Given the description of an element on the screen output the (x, y) to click on. 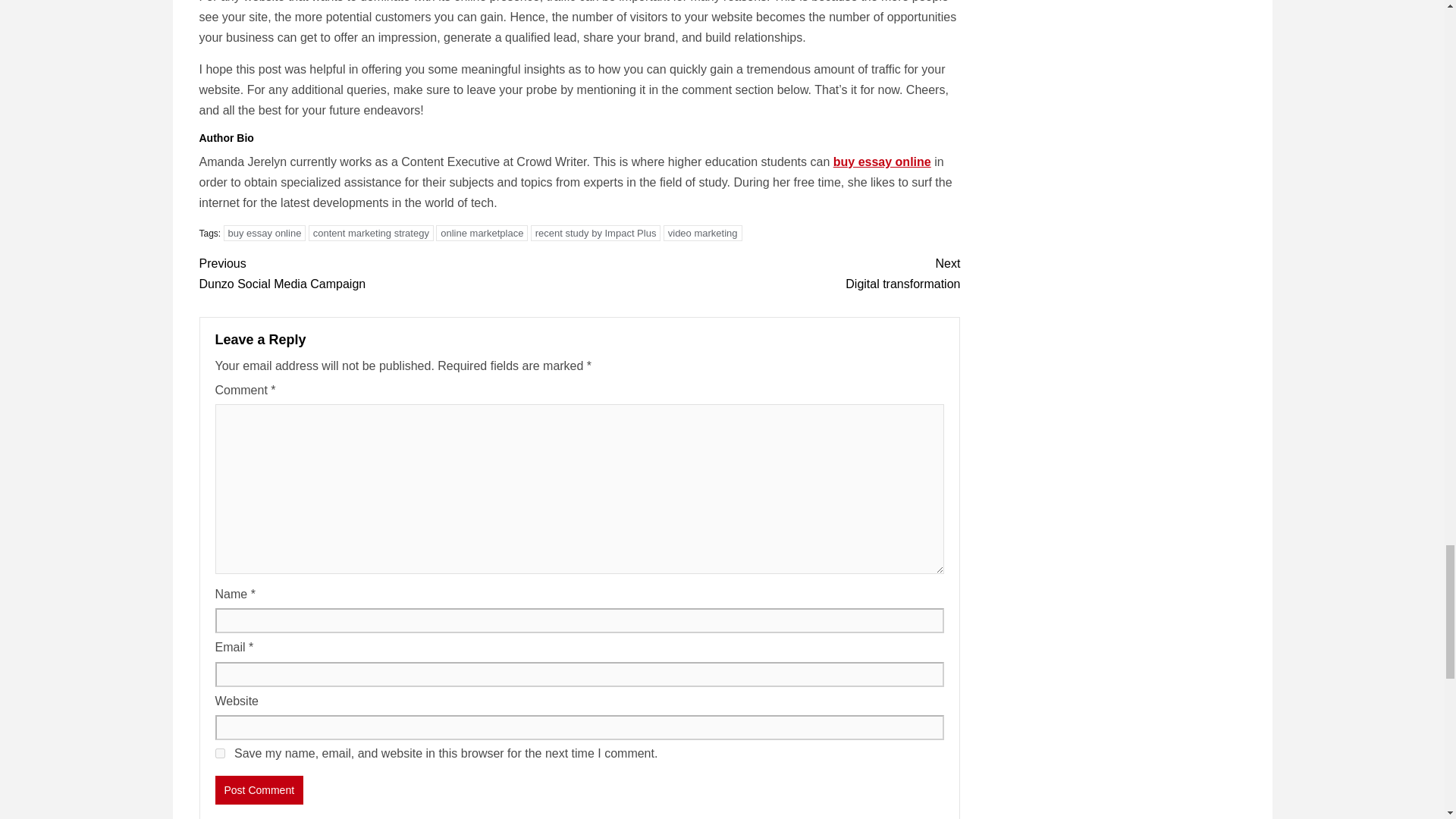
buy essay online (881, 161)
yes (388, 273)
buy essay online (220, 753)
content marketing strategy (264, 232)
Post Comment (370, 232)
recent study by Impact Plus (259, 789)
online marketplace (769, 273)
video marketing (596, 232)
